Given the description of an element on the screen output the (x, y) to click on. 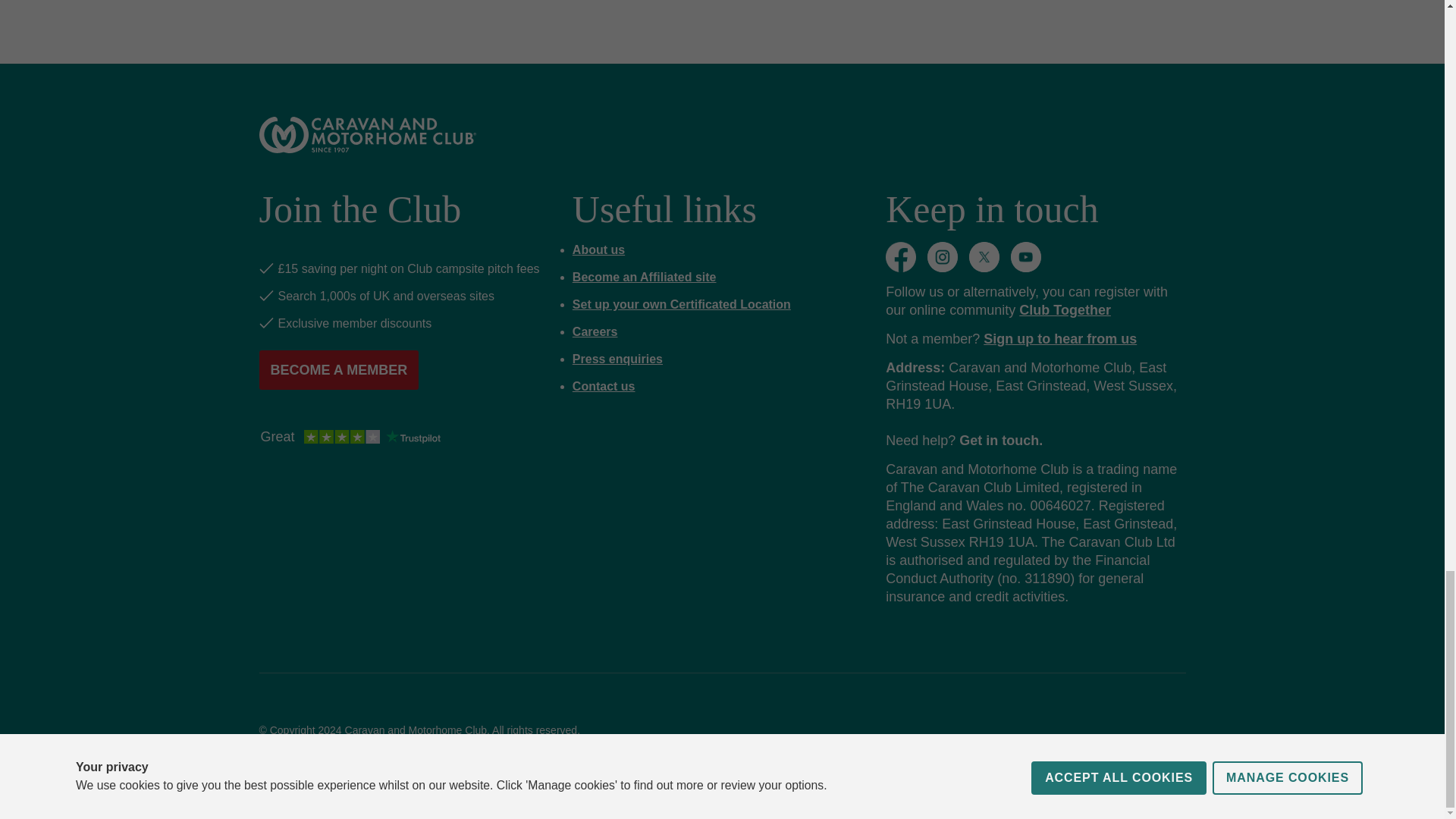
Instagram (942, 256)
YouTube (1025, 256)
Twitter (983, 256)
Facebook (900, 256)
Club Together (1064, 309)
Customer reviews powered by Trustpilot (349, 438)
